Given the description of an element on the screen output the (x, y) to click on. 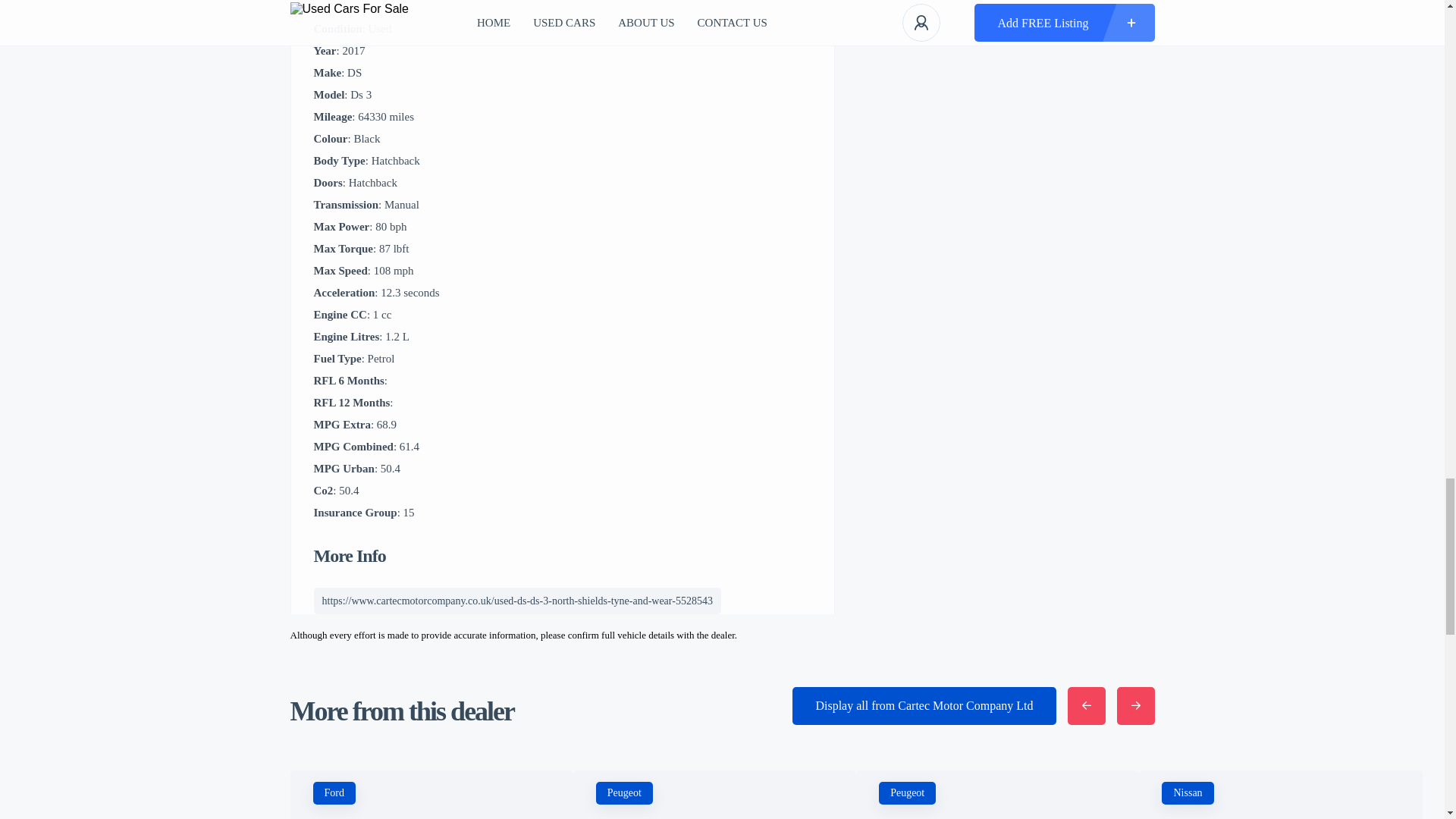
Display all from Cartec Motor Company Ltd (923, 705)
